Given the description of an element on the screen output the (x, y) to click on. 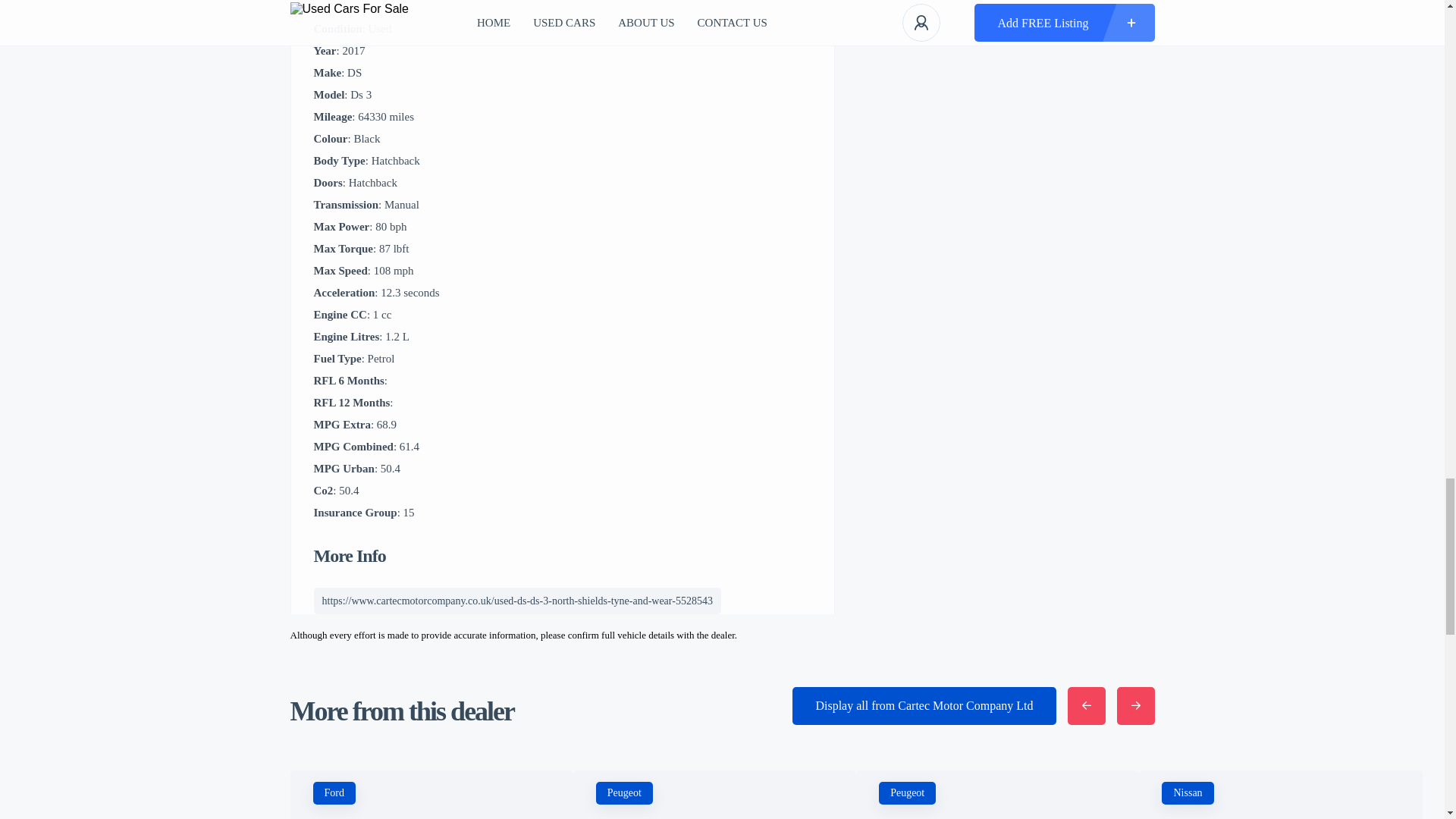
Display all from Cartec Motor Company Ltd (923, 705)
